Given the description of an element on the screen output the (x, y) to click on. 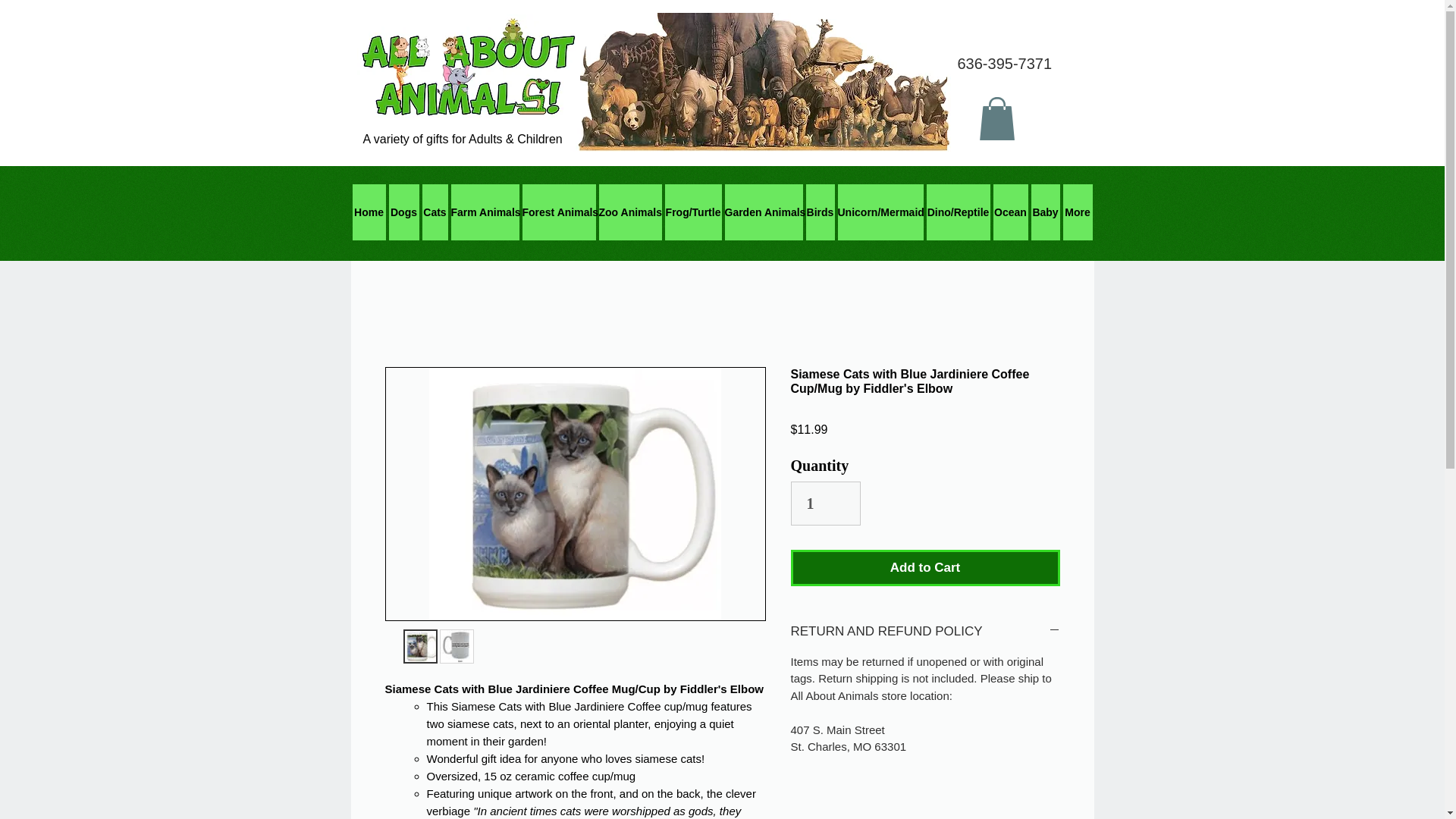
Garden Animals (764, 212)
Zoo Animals (630, 212)
Farm Animals (483, 212)
1 (825, 503)
Forest Animals (558, 212)
